Given the description of an element on the screen output the (x, y) to click on. 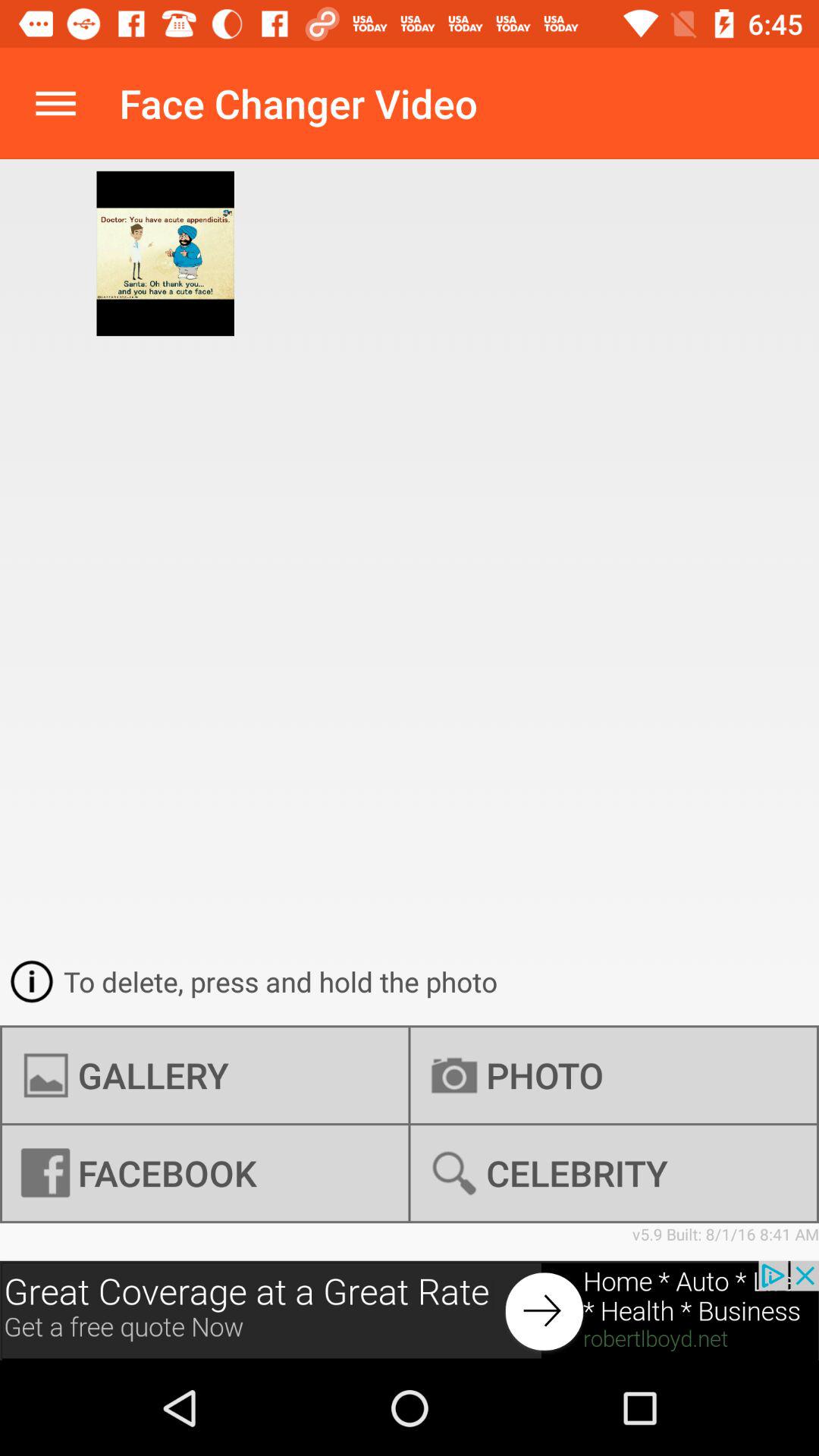
turn on the item next to the photo icon (205, 1075)
